Given the description of an element on the screen output the (x, y) to click on. 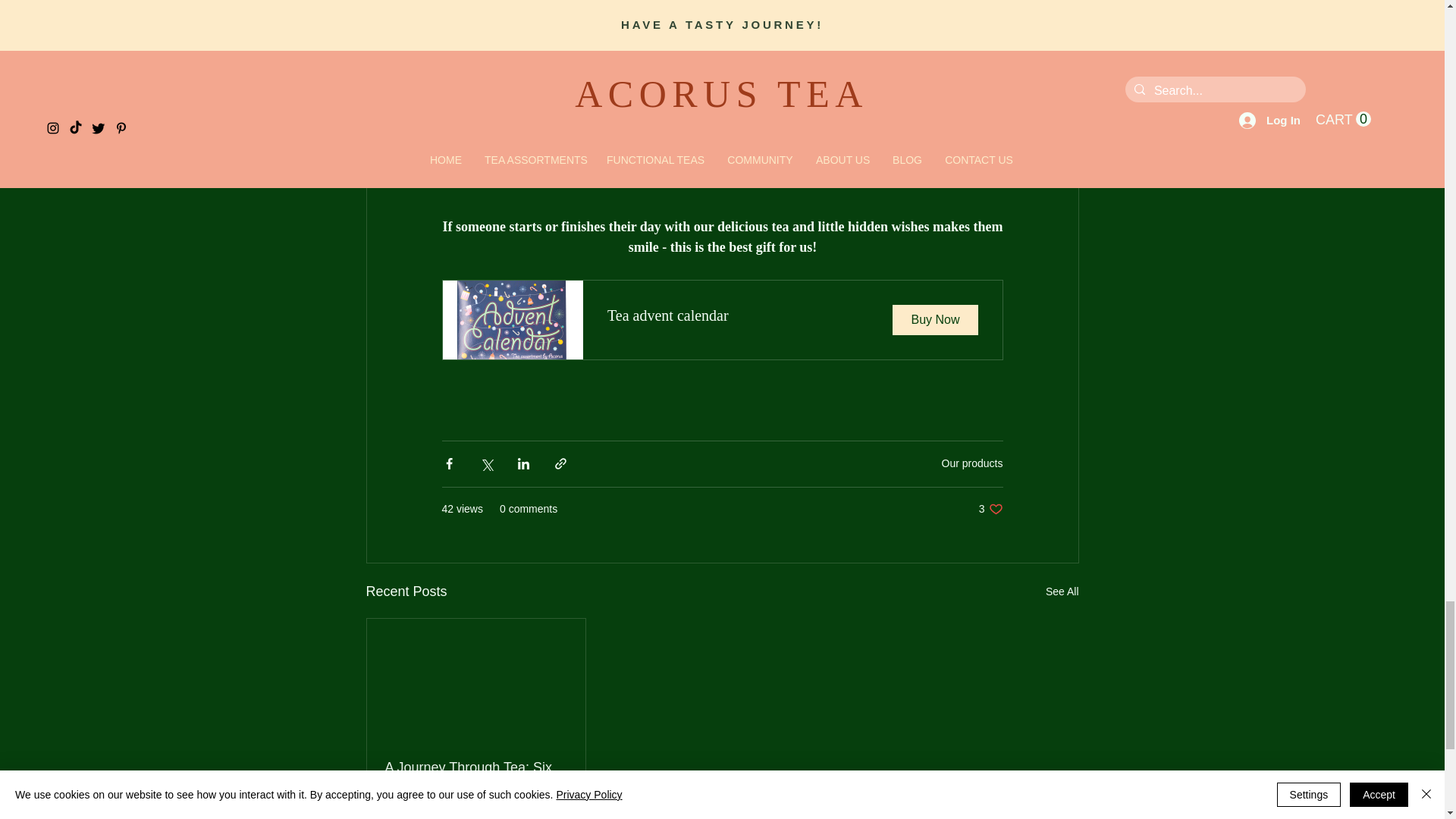
Our products (972, 463)
See All (990, 509)
A Journey Through Tea: Six Flavors Inspired by Six Countries (722, 320)
